Given the description of an element on the screen output the (x, y) to click on. 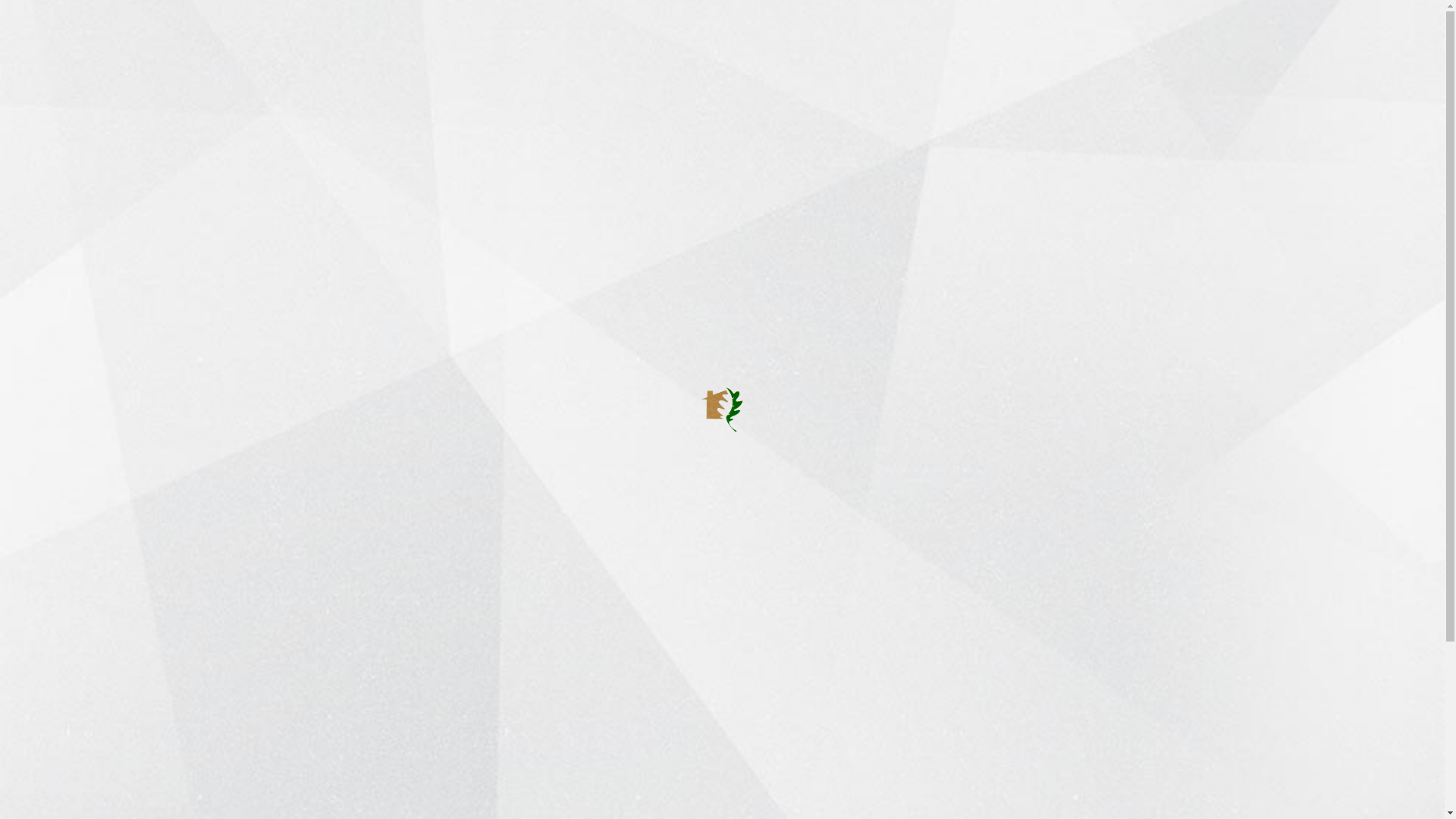
Vacancy (821, 37)
About (361, 73)
Projects (550, 37)
Publications (604, 37)
Publications (634, 805)
People (694, 37)
Partners (774, 37)
About Us (346, 37)
Save (1307, 246)
Save (1307, 246)
Gallery (657, 37)
News Feed (497, 37)
Our Services (430, 37)
Our Projects (635, 753)
Contact Us (874, 37)
